Given the description of an element on the screen output the (x, y) to click on. 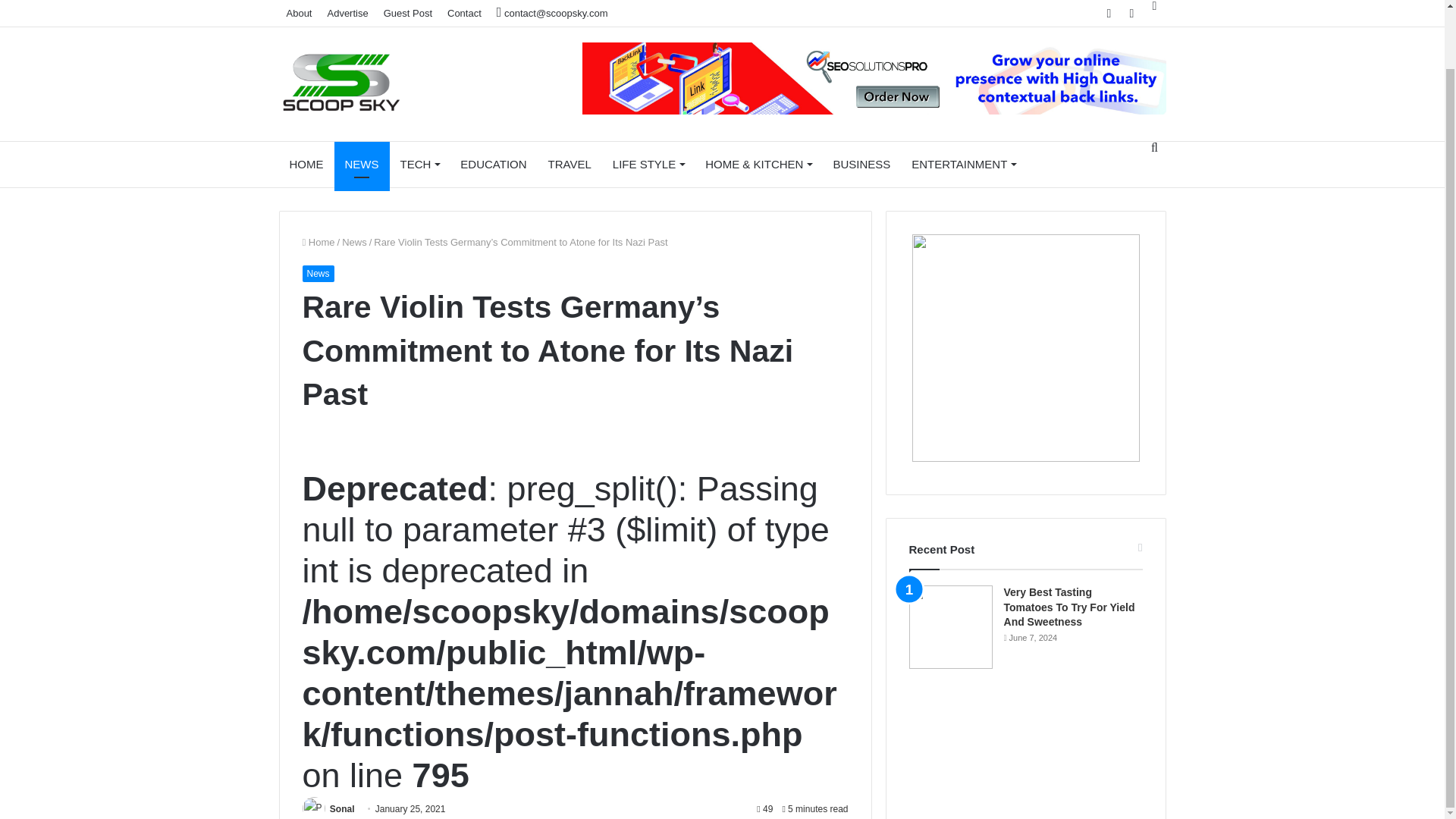
ENTERTAINMENT (963, 164)
TRAVEL (569, 164)
Contact (464, 13)
Scoopsky (341, 84)
Sonal (342, 808)
Advertise (346, 13)
Guest Post (407, 13)
HOME (306, 164)
BUSINESS (861, 164)
About (299, 13)
Sidebar (1154, 6)
TECH (419, 164)
LIFE STYLE (648, 164)
NEWS (360, 164)
EDUCATION (493, 164)
